Given the description of an element on the screen output the (x, y) to click on. 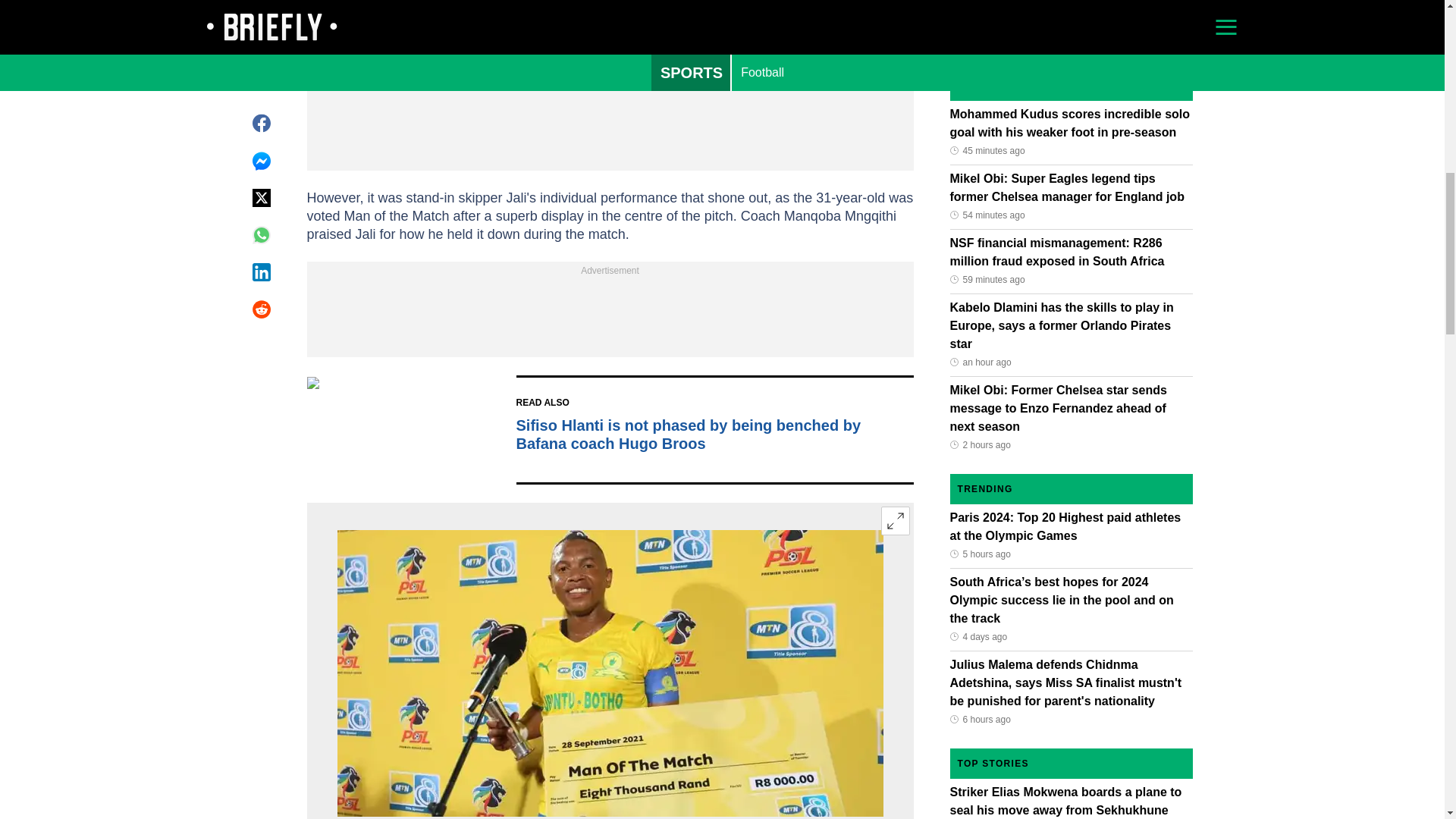
Expand image (895, 520)
